Given the description of an element on the screen output the (x, y) to click on. 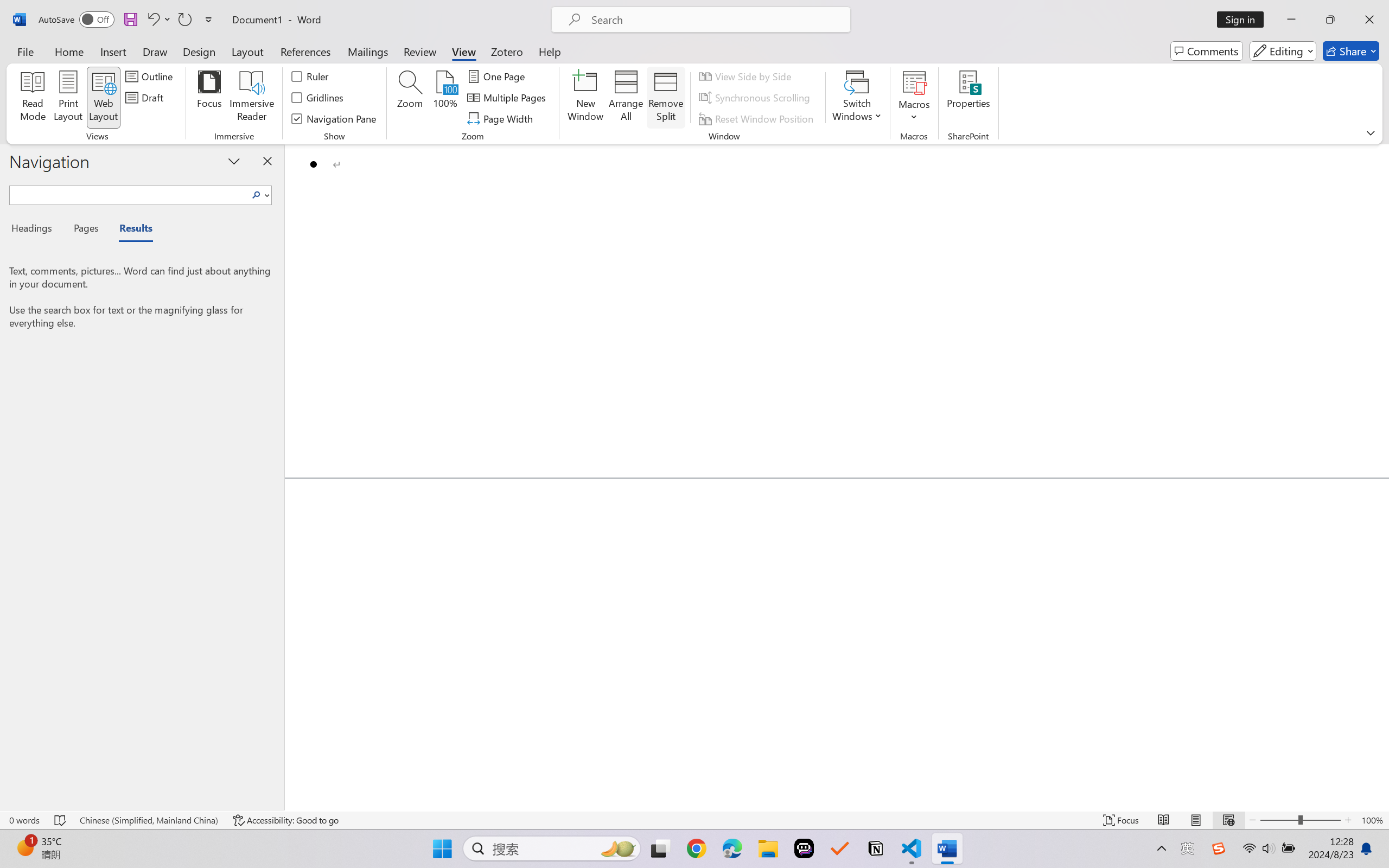
Search document (128, 193)
Pages (85, 229)
Macros (914, 97)
Synchronous Scrolling (755, 97)
View Macros (914, 81)
